Given the description of an element on the screen output the (x, y) to click on. 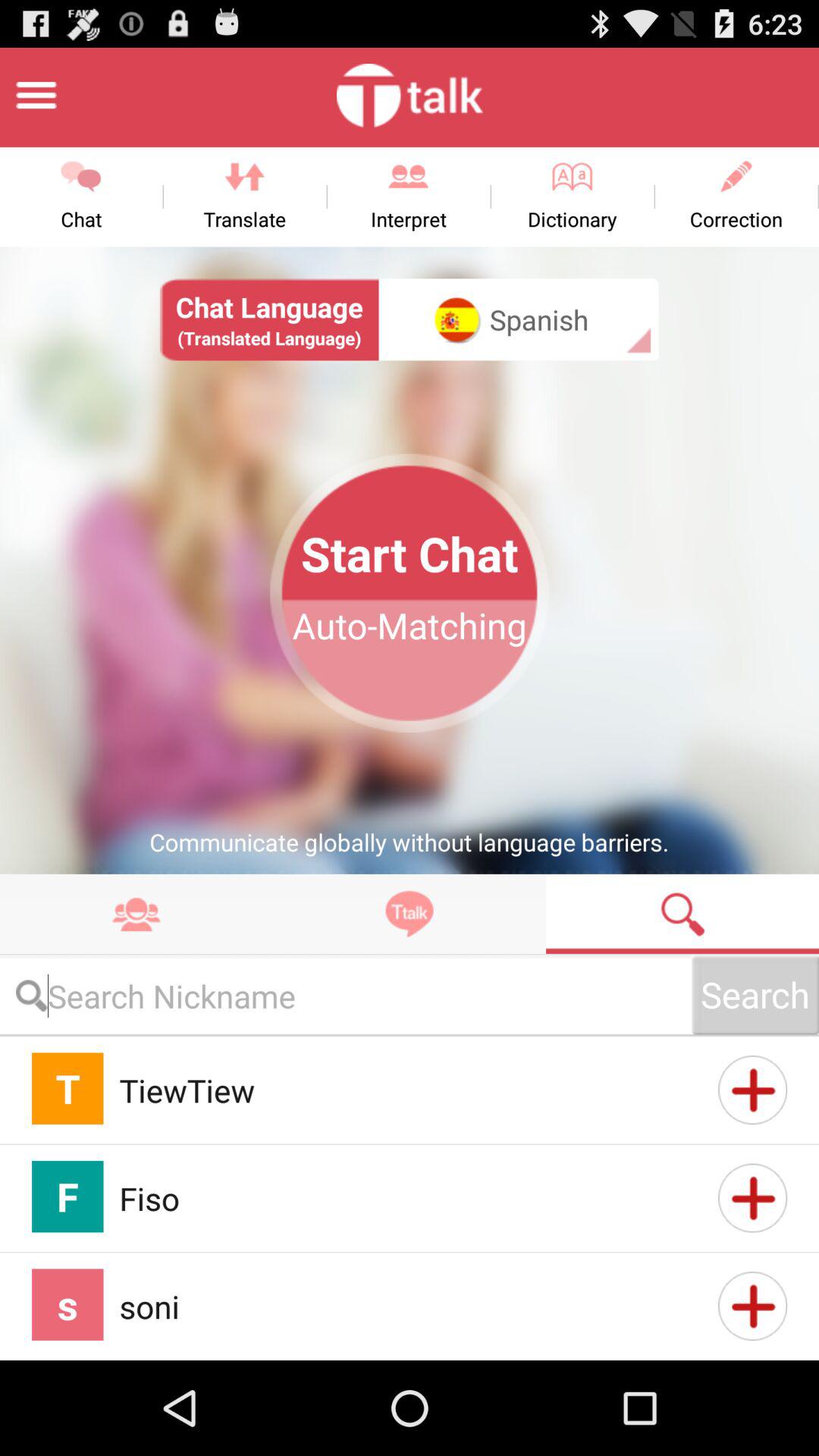
select for more information (752, 1305)
